Given the description of an element on the screen output the (x, y) to click on. 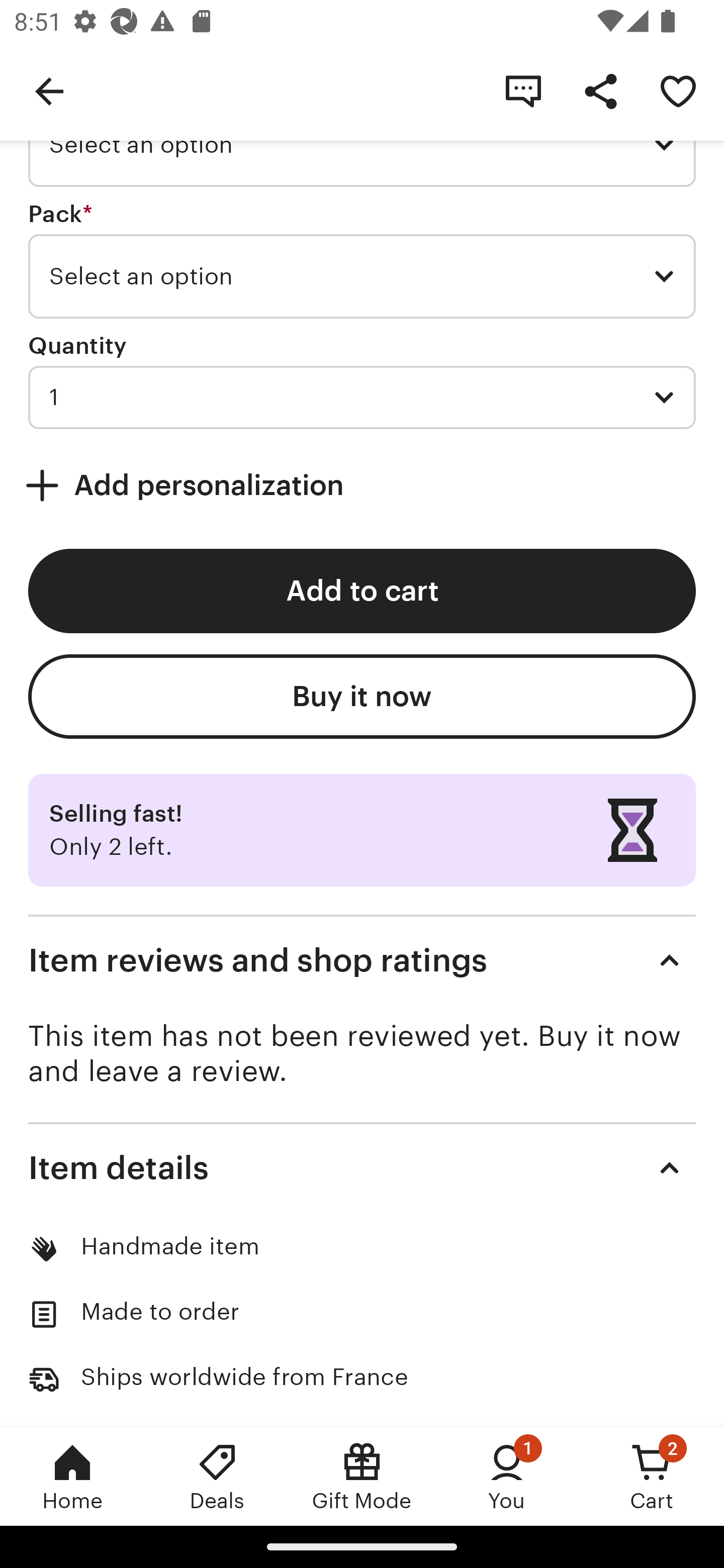
Navigate up (49, 90)
Contact shop (523, 90)
Share (600, 90)
Select an option (361, 143)
Pack * Required Select an option (361, 259)
Select an option (361, 275)
Quantity (77, 345)
1 (361, 397)
Add personalization Add personalization Required (362, 485)
Add to cart (361, 590)
Buy it now (361, 695)
Item reviews and shop ratings (362, 960)
Item details (362, 1167)
Deals (216, 1475)
Gift Mode (361, 1475)
You, 1 new notification You (506, 1475)
Cart, 2 new notifications Cart (651, 1475)
